Given the description of an element on the screen output the (x, y) to click on. 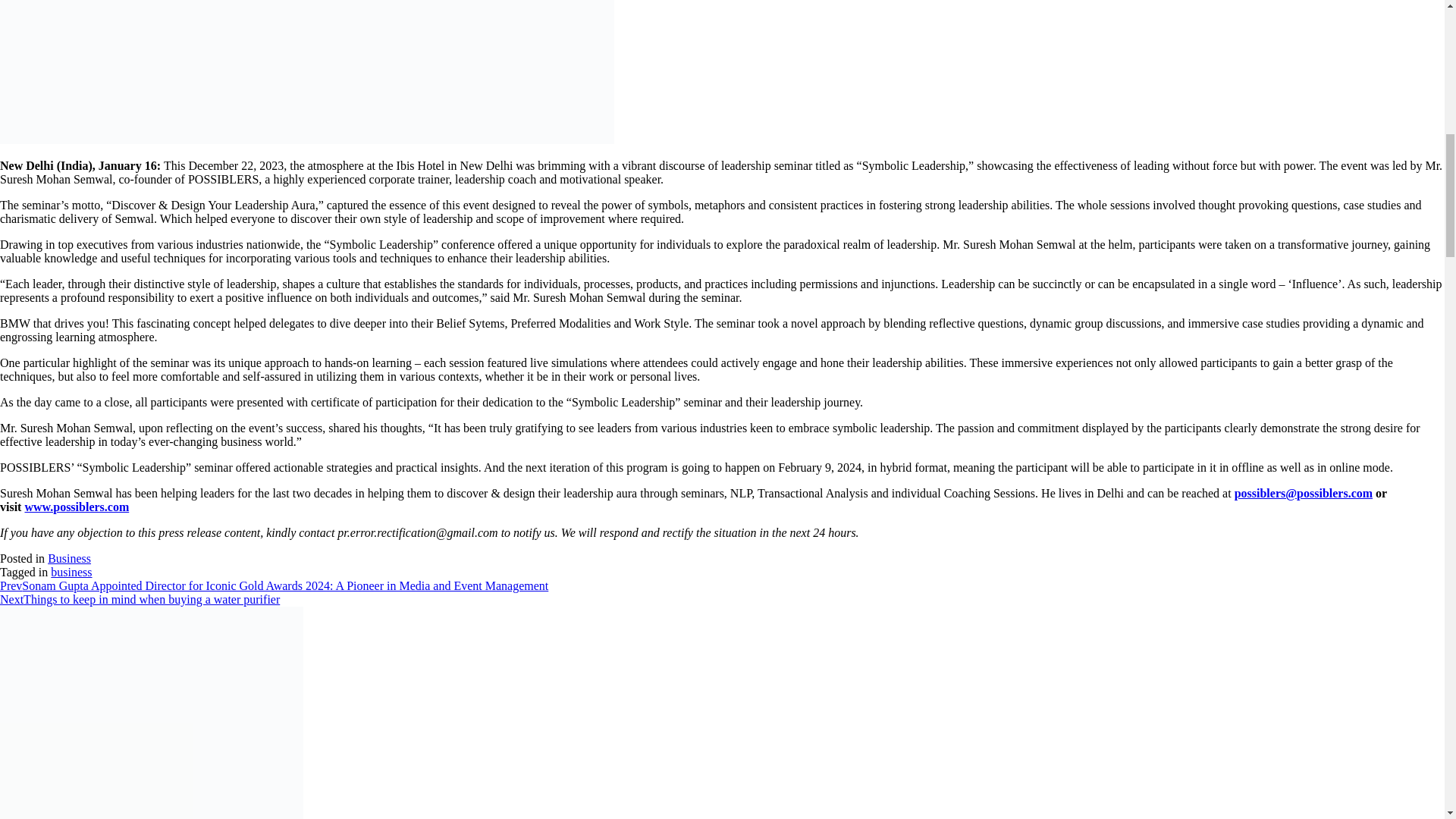
NextThings to keep in mind when buying a water purifier (139, 599)
business (70, 571)
www.possiblers.com (76, 506)
Business (69, 558)
